Given the description of an element on the screen output the (x, y) to click on. 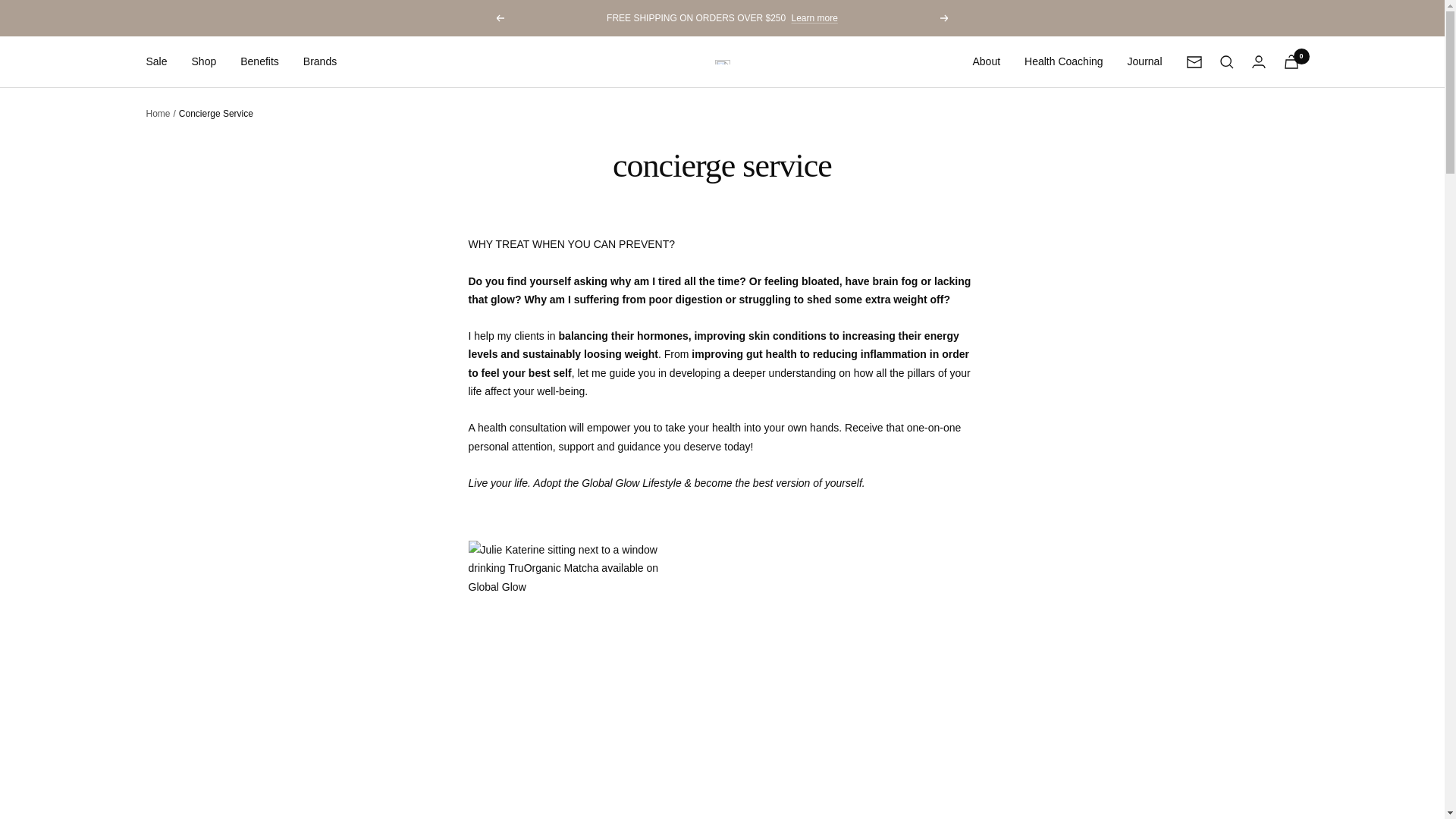
Brands (319, 61)
Sale (156, 61)
Previous (499, 18)
Newsletter (1193, 61)
Learn more (815, 18)
Benefits (259, 61)
Health Coaching (1064, 61)
Journal (1143, 61)
Next (944, 18)
Global Glow (721, 61)
